Given the description of an element on the screen output the (x, y) to click on. 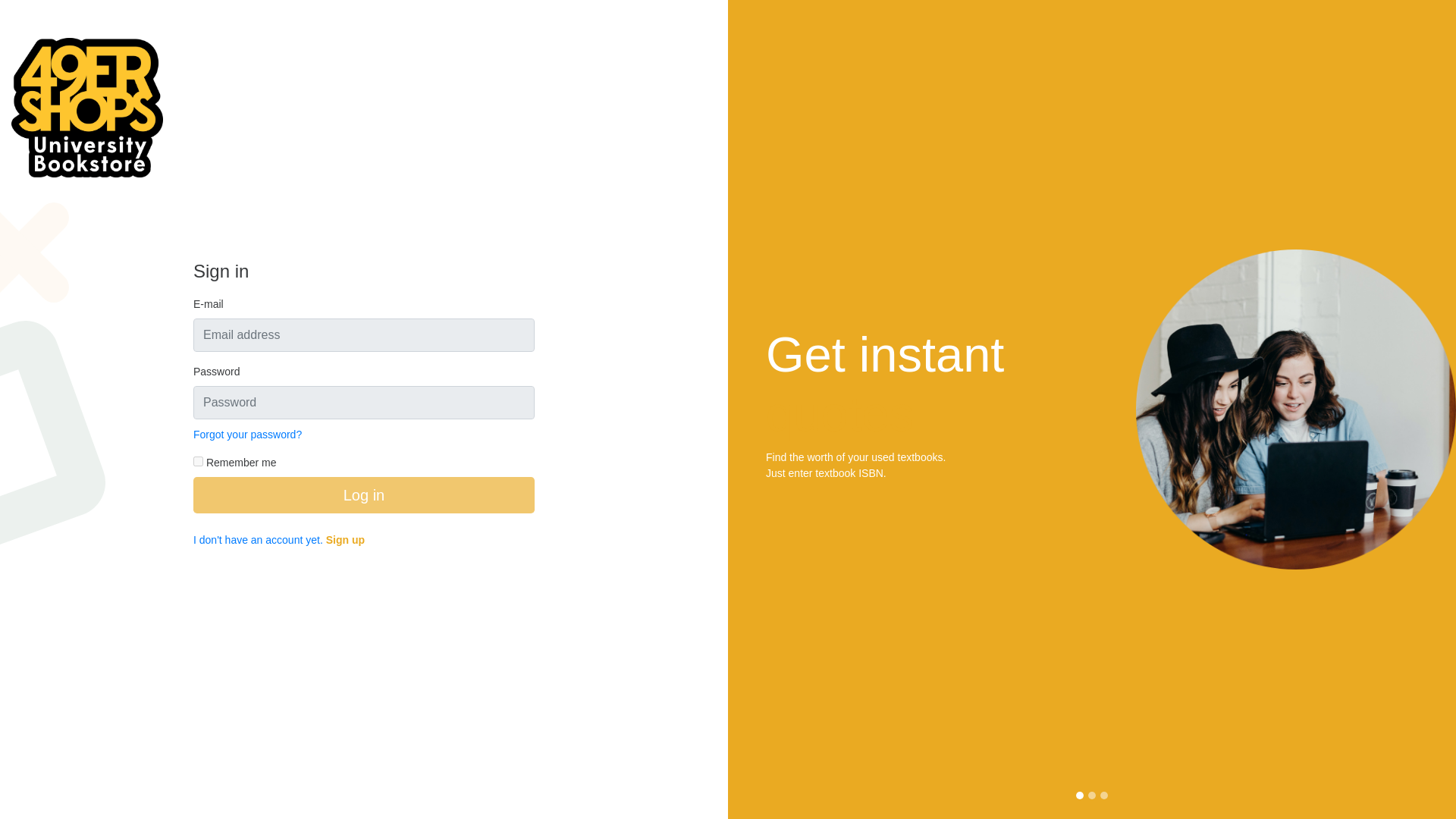
I don't have an account yet. Sign up (279, 539)
Forgot your password? (247, 434)
Log in (363, 494)
Home (87, 96)
1 (198, 461)
